Given the description of an element on the screen output the (x, y) to click on. 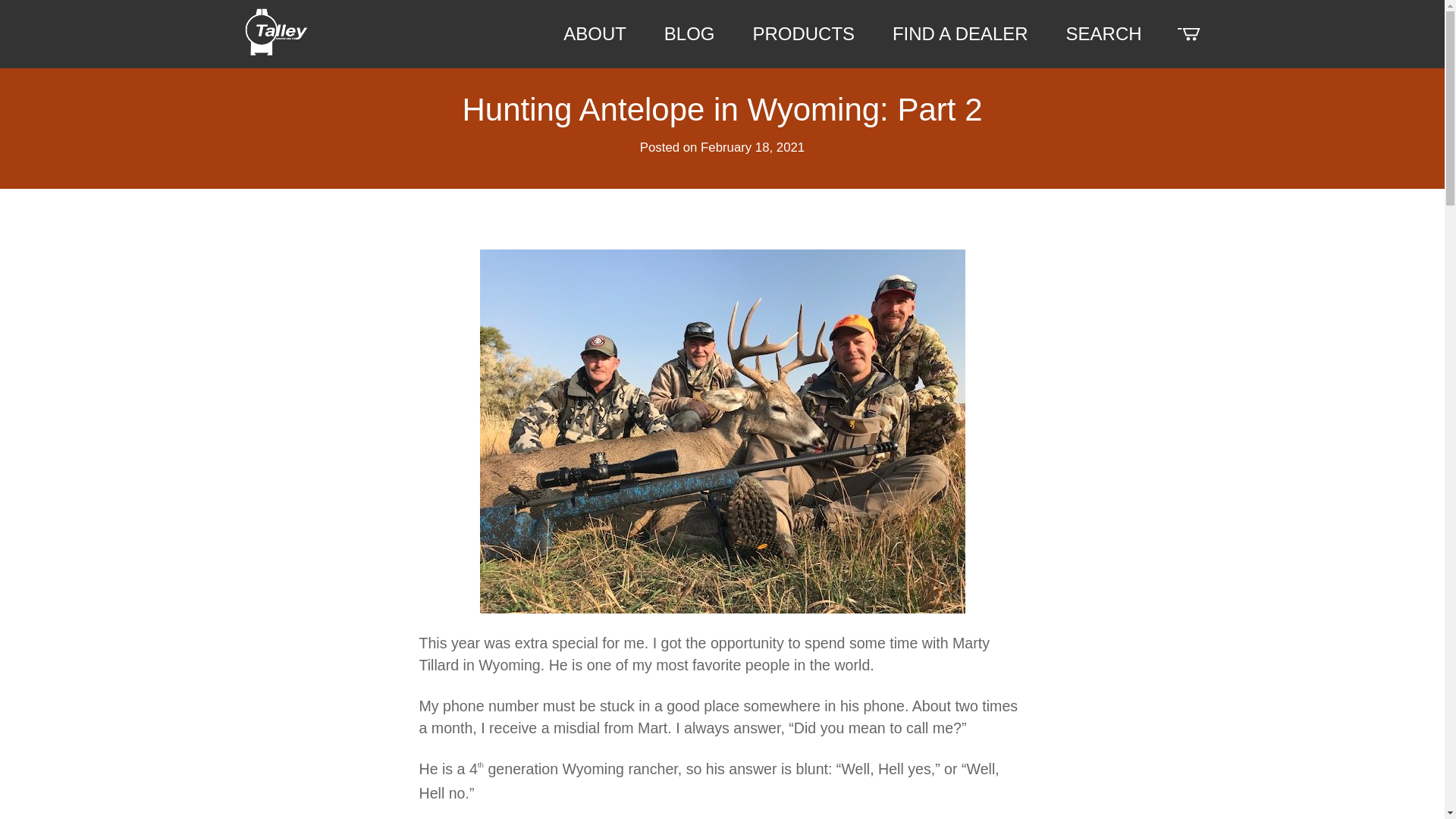
ABOUT (594, 33)
SEARCH (1103, 33)
Talley Manufacturing (275, 31)
FIND A DEALER (959, 33)
PRODUCTS (803, 33)
Search (991, 75)
